Given the description of an element on the screen output the (x, y) to click on. 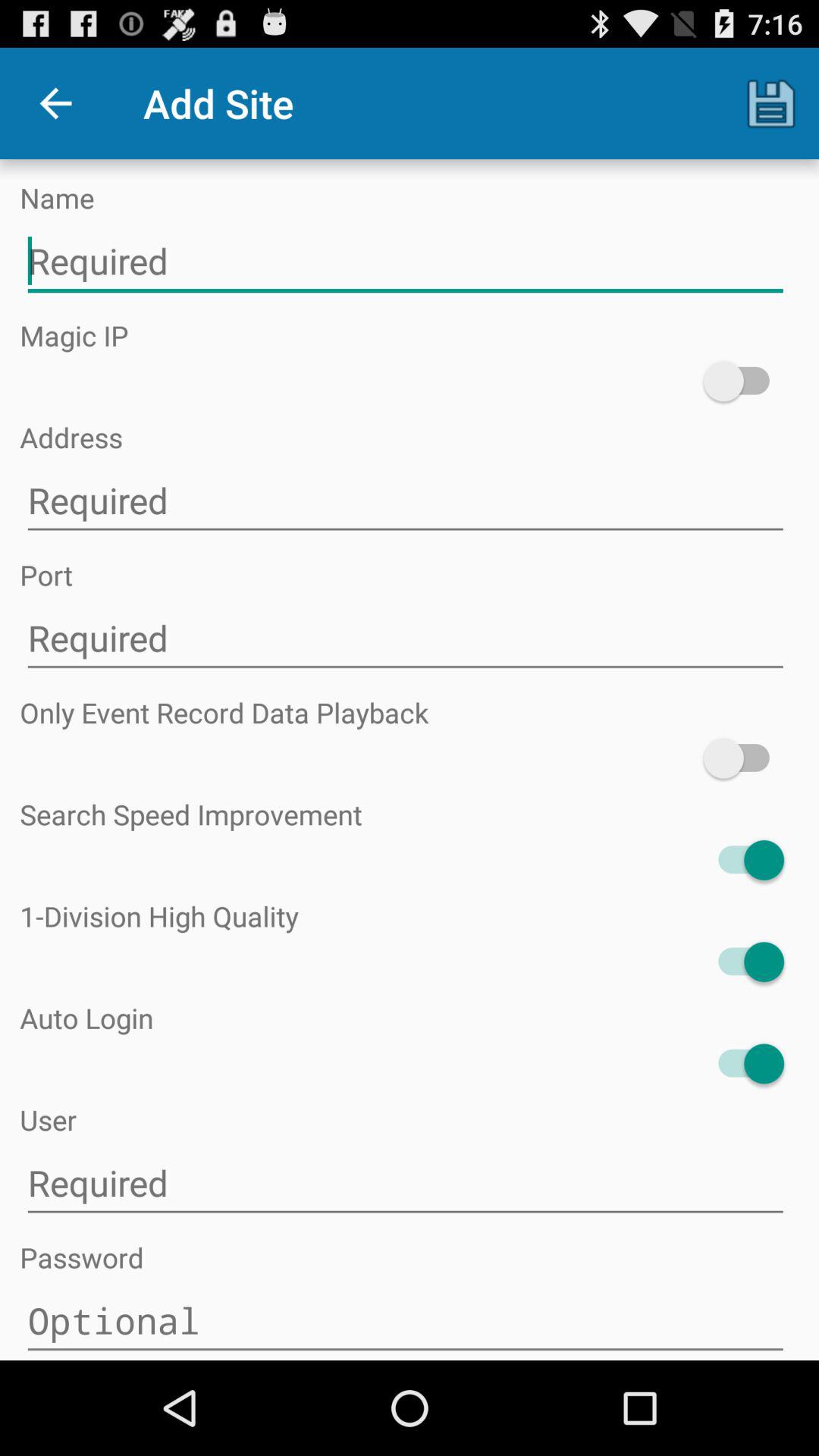
enable magic ip feature (743, 381)
